Given the description of an element on the screen output the (x, y) to click on. 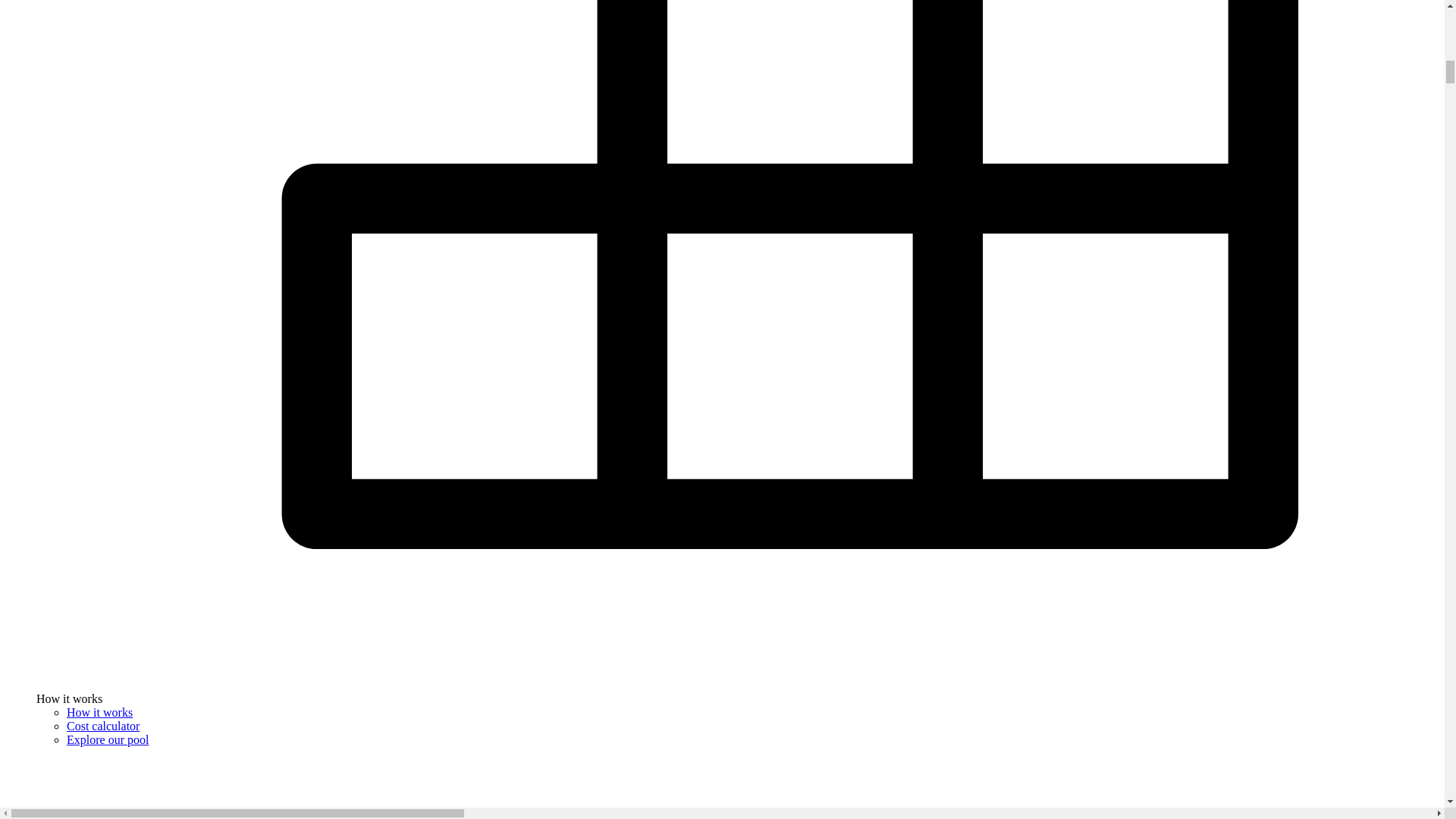
How it works (99, 712)
Explore our pool (107, 739)
Cost calculator (102, 725)
